Given the description of an element on the screen output the (x, y) to click on. 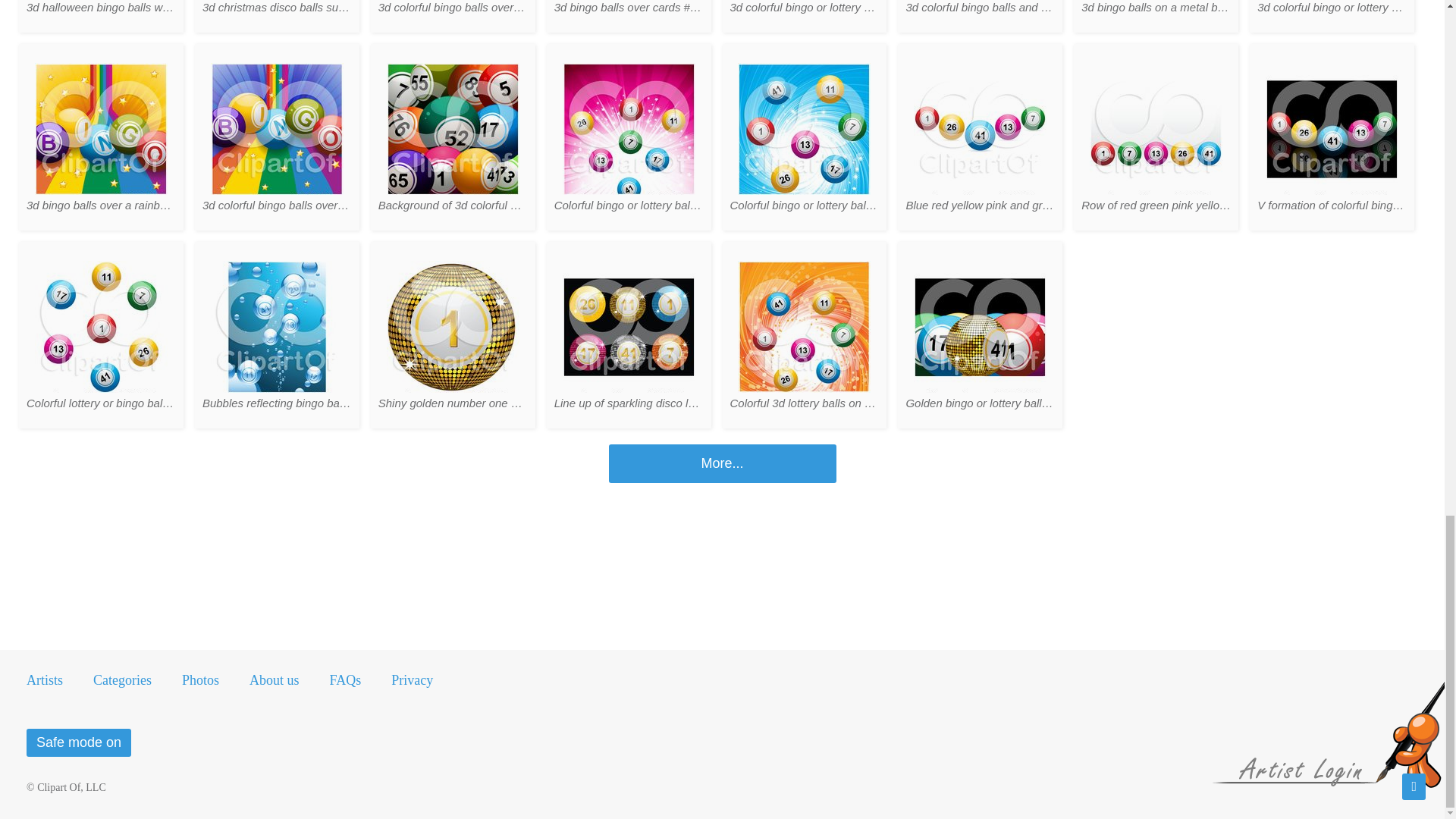
Display explicit graphics. (78, 742)
Bingo Clip Art (721, 463)
